Given the description of an element on the screen output the (x, y) to click on. 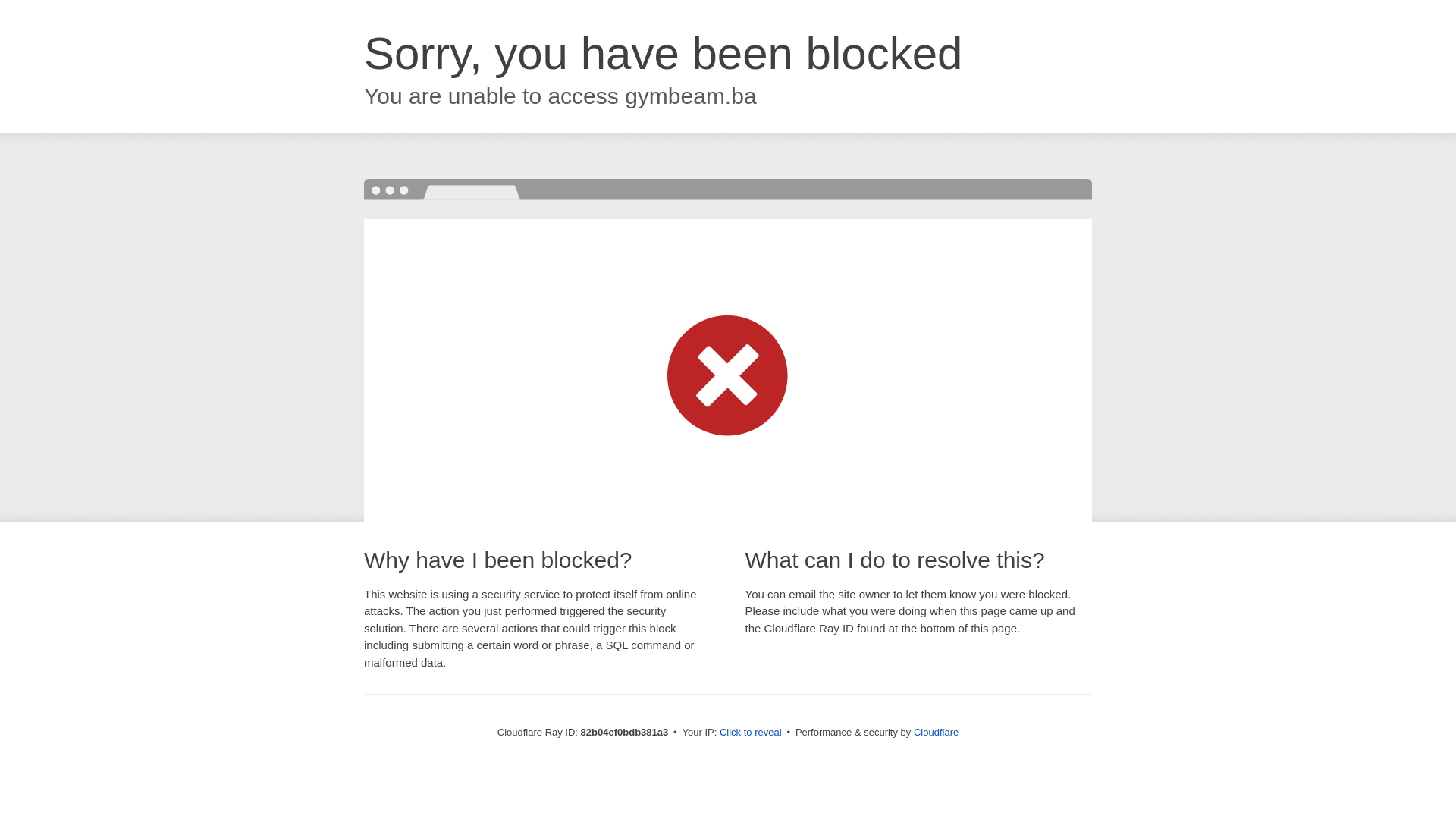
Click to reveal Element type: text (750, 732)
Cloudflare Element type: text (935, 731)
